Given the description of an element on the screen output the (x, y) to click on. 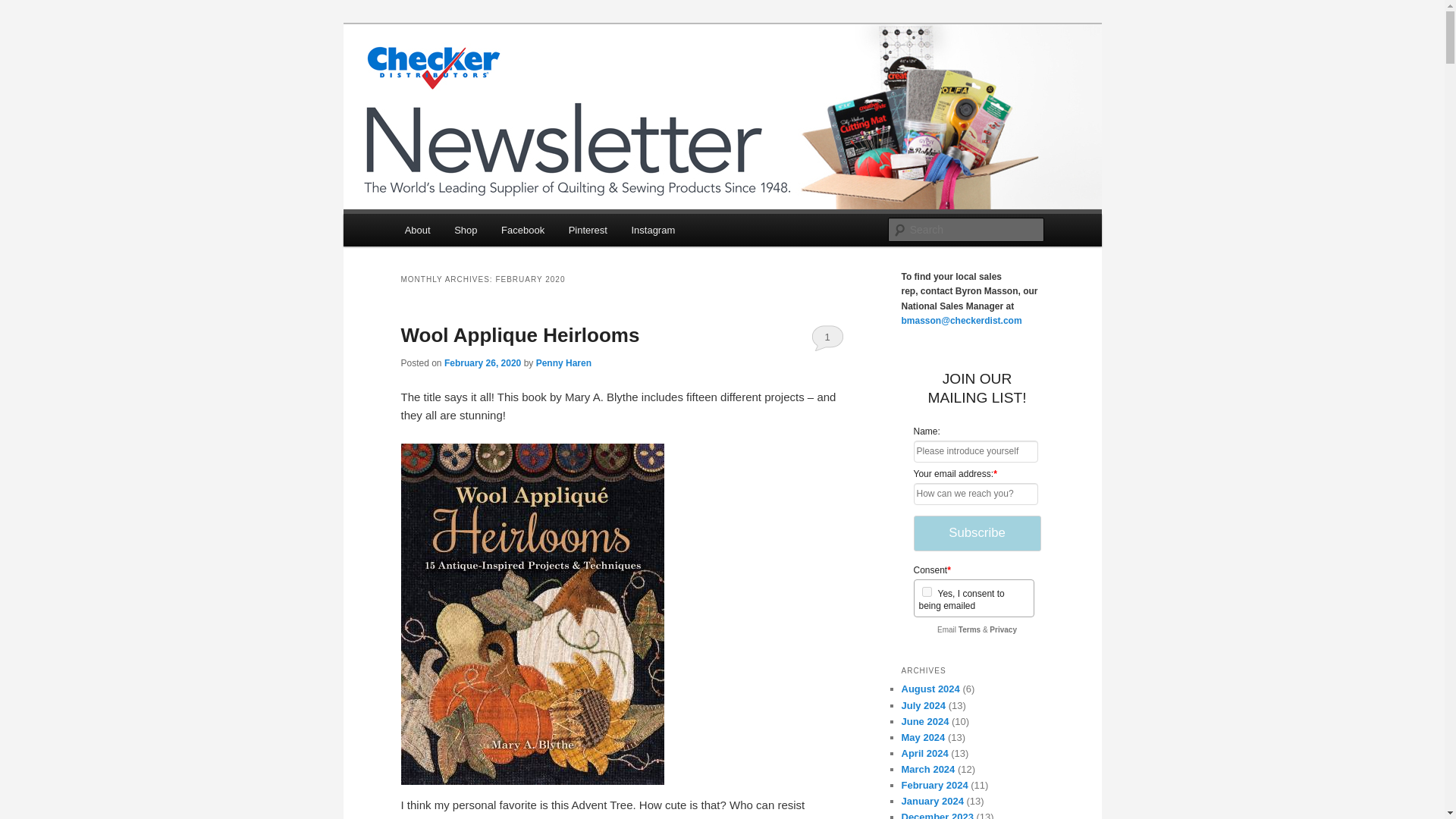
accepted (926, 592)
View all posts by Penny Haren (563, 362)
About (417, 229)
Search (24, 8)
Wool Applique Heirlooms (519, 334)
Penny Haren (563, 362)
February 26, 2020 (482, 362)
Checker News Blog (506, 78)
Facebook (522, 229)
Subscribe (976, 533)
